Given the description of an element on the screen output the (x, y) to click on. 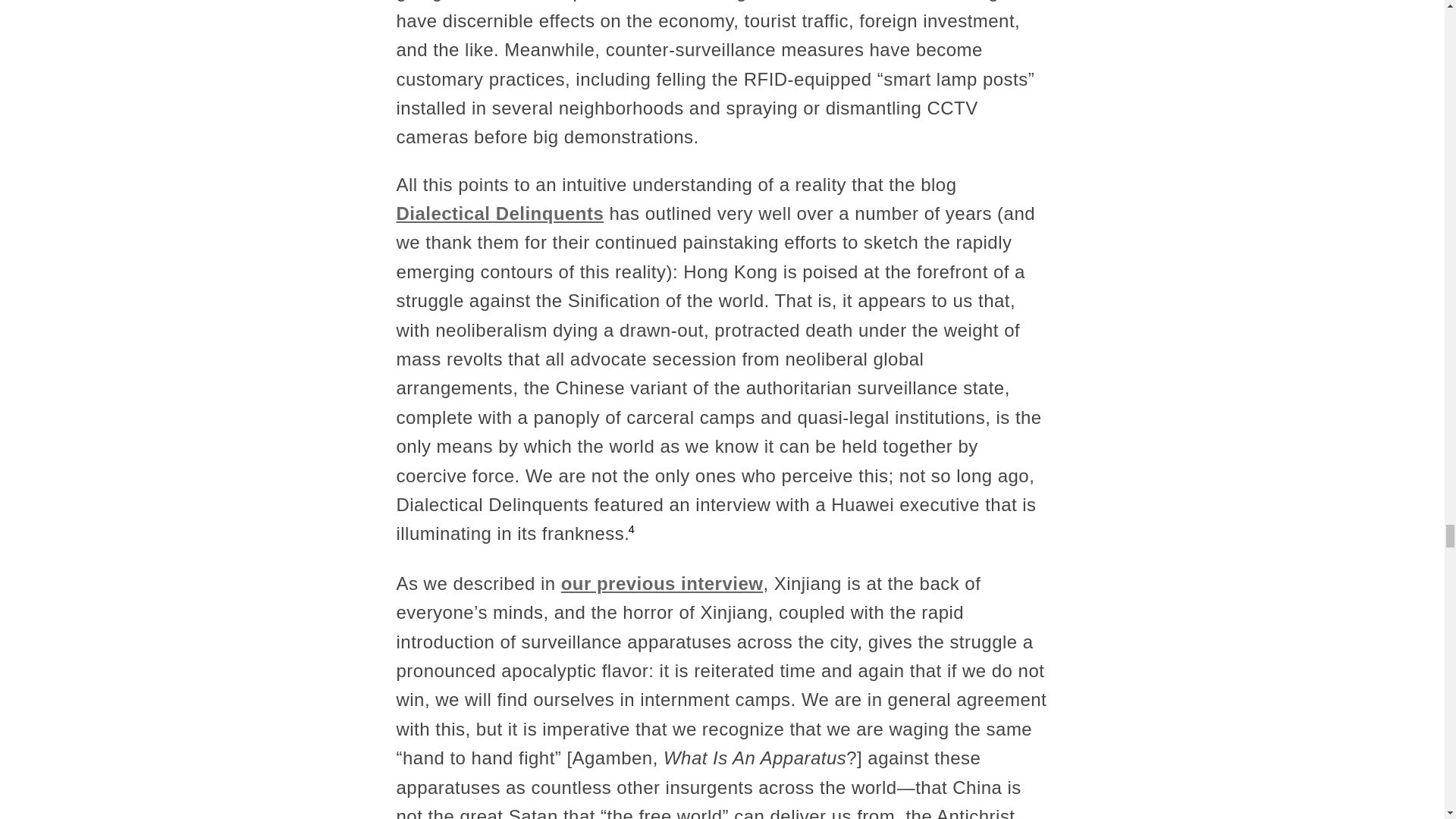
Dialectical Delinquents (500, 213)
4 (630, 529)
our previous interview (661, 583)
